Given the description of an element on the screen output the (x, y) to click on. 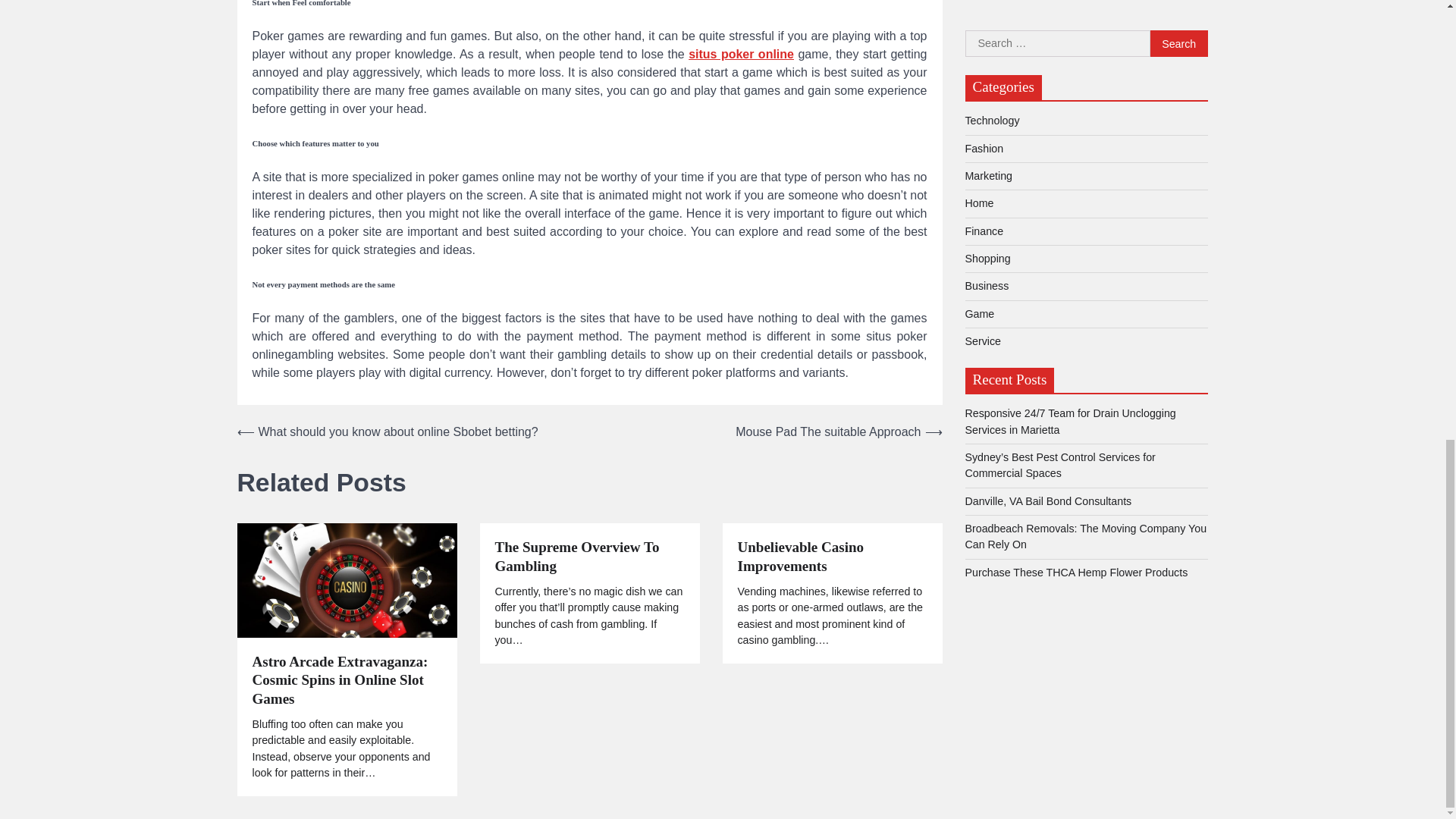
Unbelievable Casino Improvements (831, 557)
situs poker online (740, 53)
The Supreme Overview To Gambling (589, 557)
Astro Arcade Extravaganza: Cosmic Spins in Online Slot Games (346, 680)
